Given the description of an element on the screen output the (x, y) to click on. 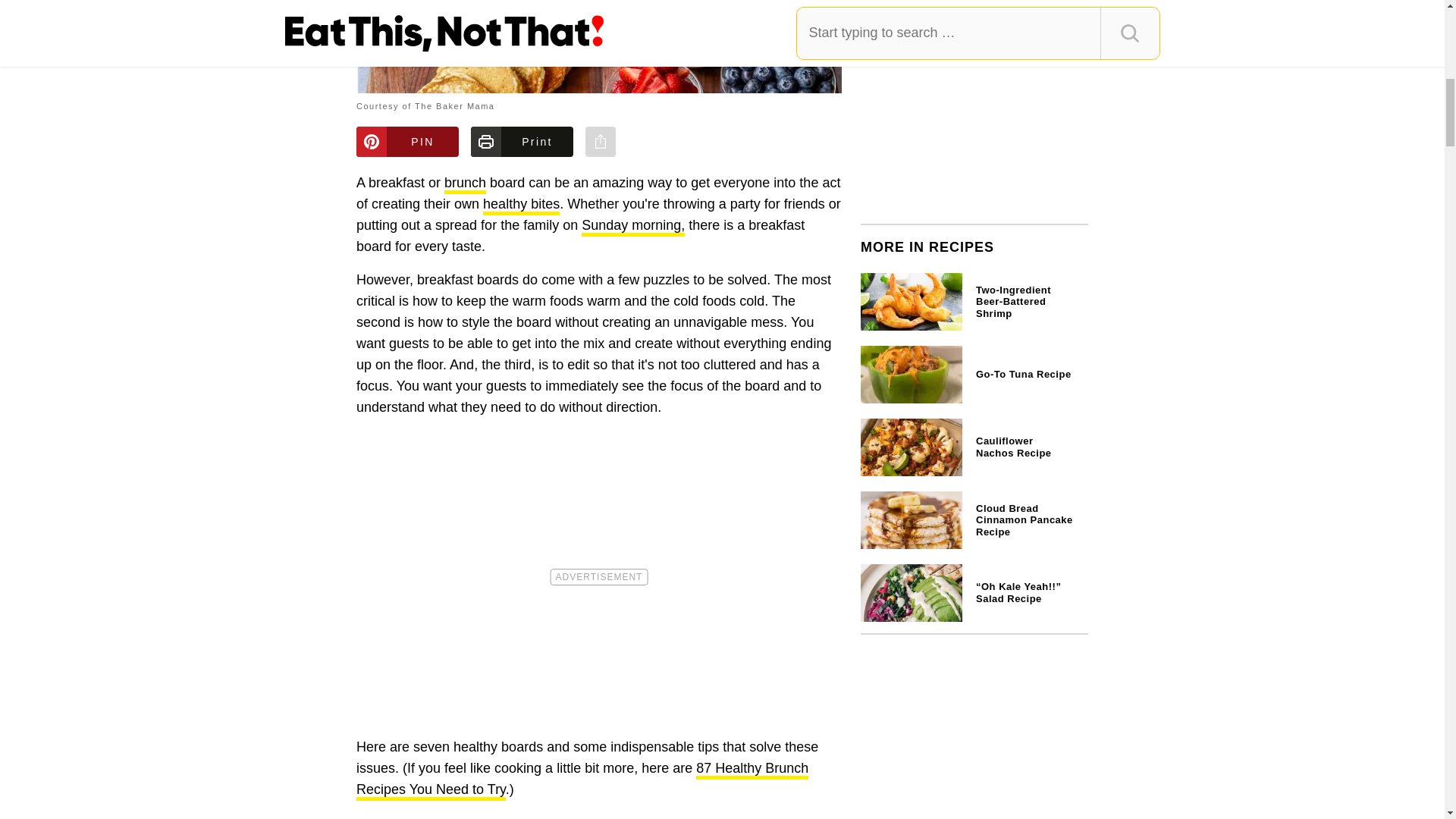
Print this page (521, 141)
Share on Pinterest (407, 141)
Share via e-mail (600, 141)
